Given the description of an element on the screen output the (x, y) to click on. 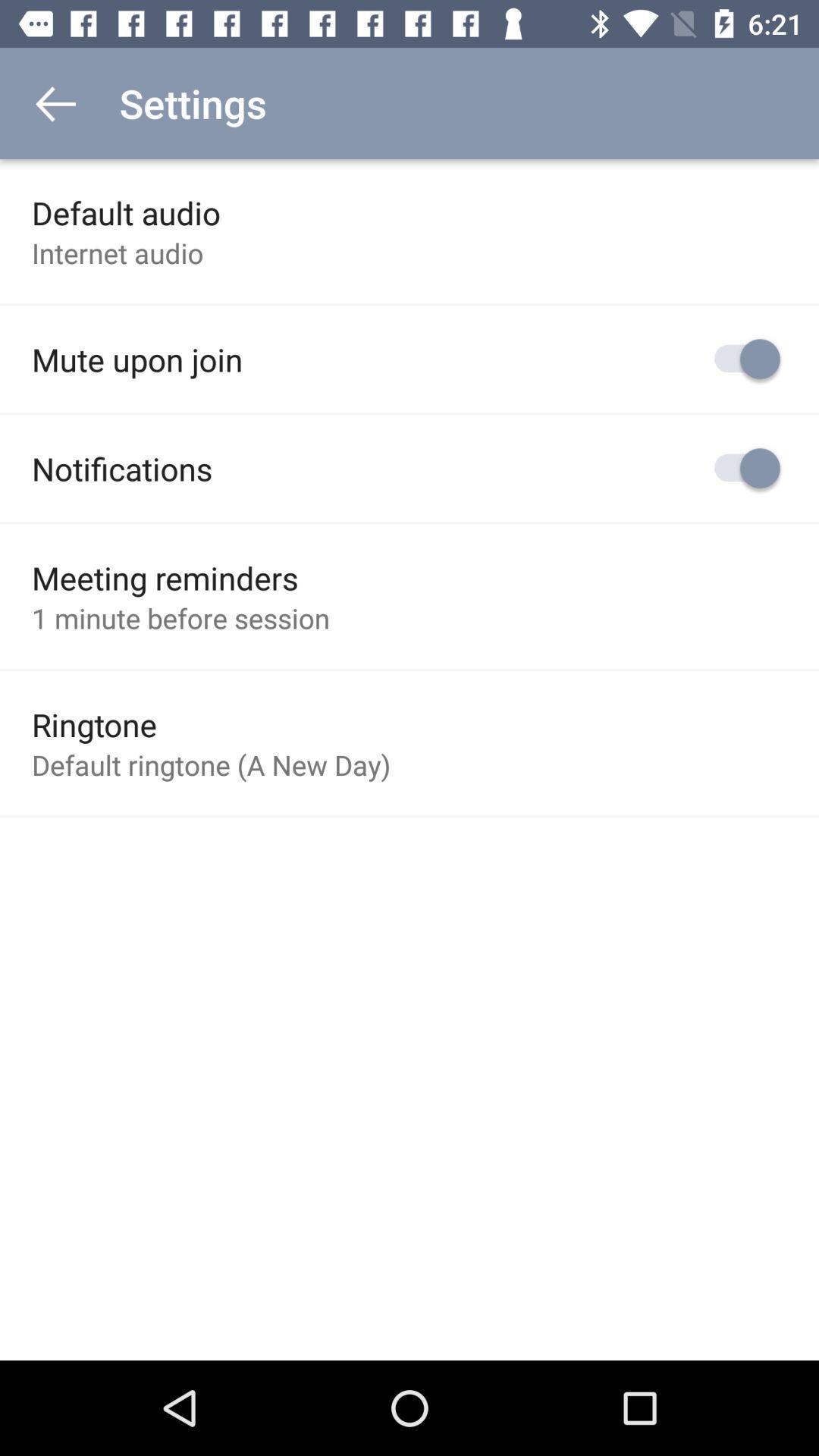
jump until the internet audio item (117, 252)
